Given the description of an element on the screen output the (x, y) to click on. 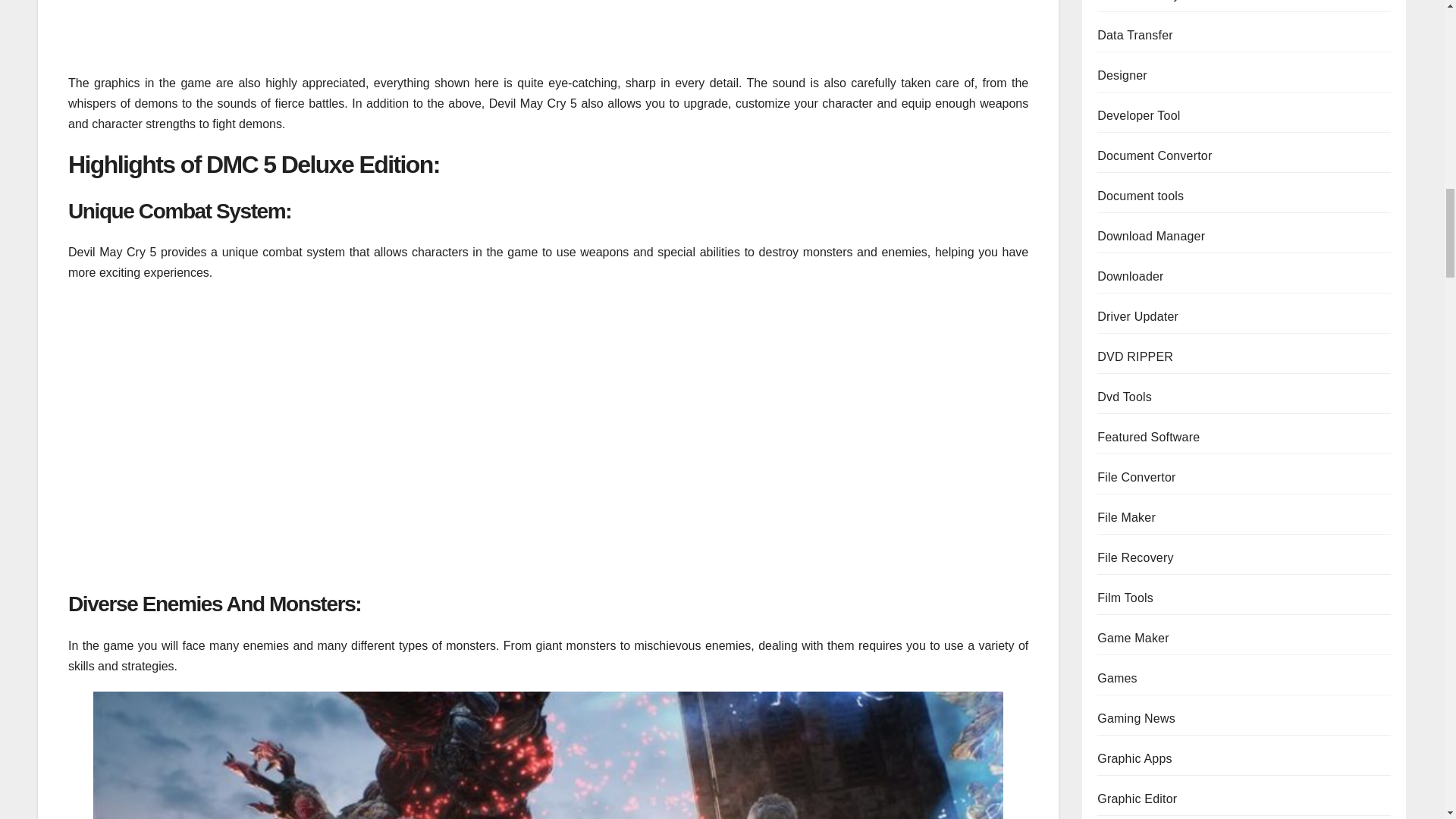
Devil May Cry 5 Special Edition - Launch Trailer (310, 26)
